Given the description of an element on the screen output the (x, y) to click on. 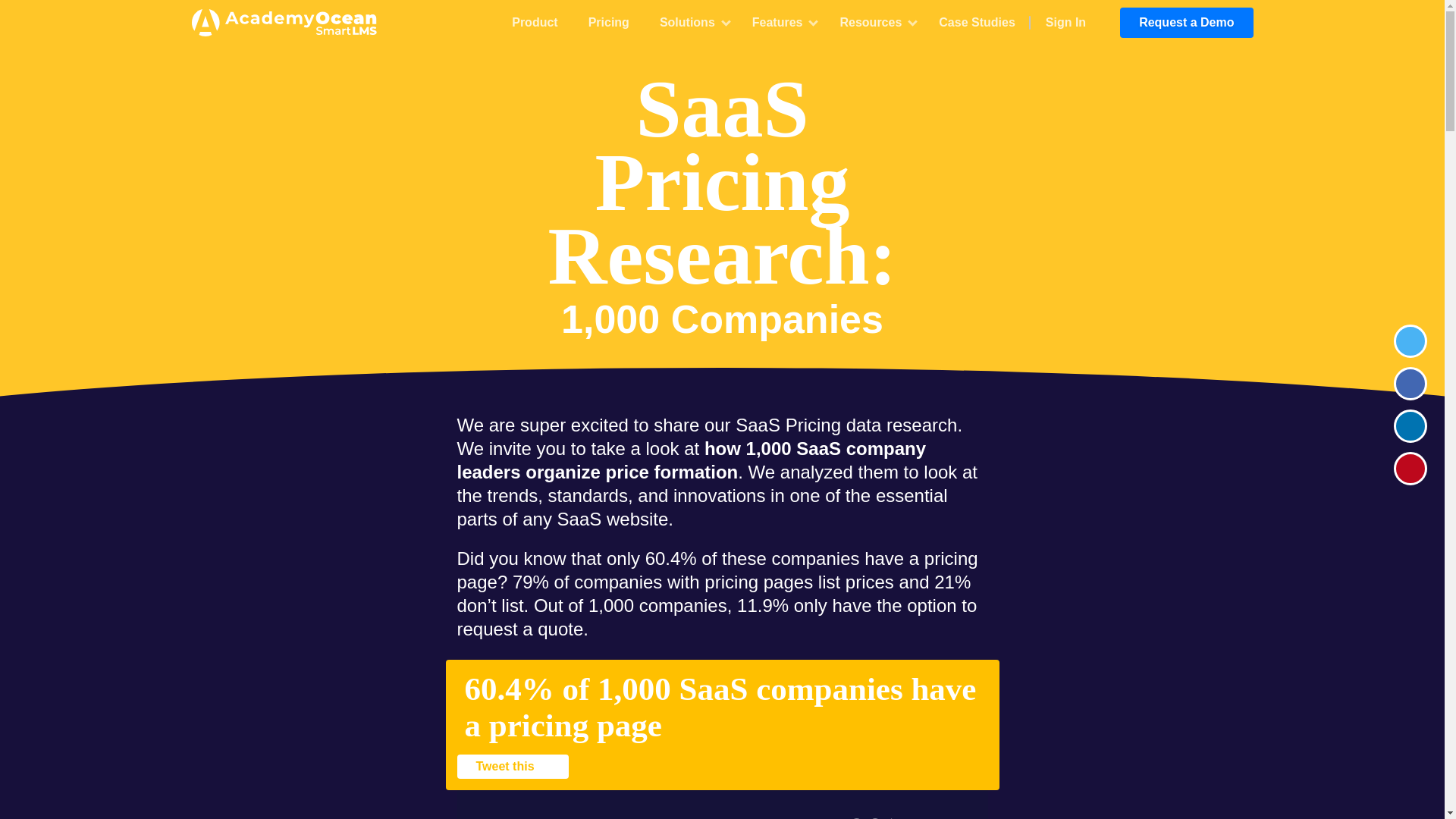
Pricing (609, 22)
Product (534, 22)
LMS Platform for Engaging Online Learning (289, 22)
Request a Demo (1185, 22)
The AcademyOcean platform: Learn more about our product (534, 22)
